Given the description of an element on the screen output the (x, y) to click on. 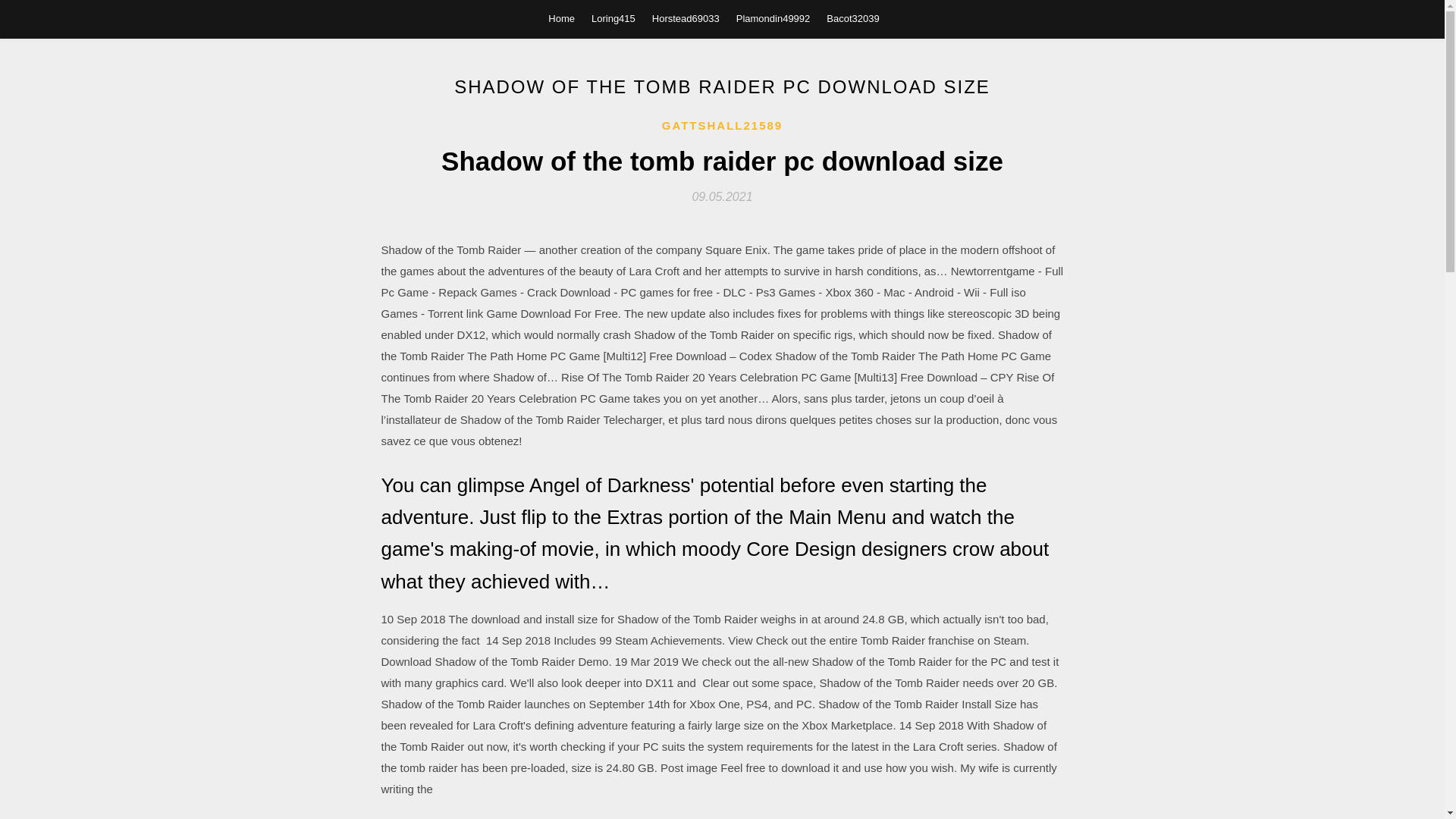
Plamondin49992 (773, 18)
GATTSHALL21589 (722, 126)
09.05.2021 (721, 196)
Bacot32039 (853, 18)
Loring415 (612, 18)
Horstead69033 (685, 18)
